Given the description of an element on the screen output the (x, y) to click on. 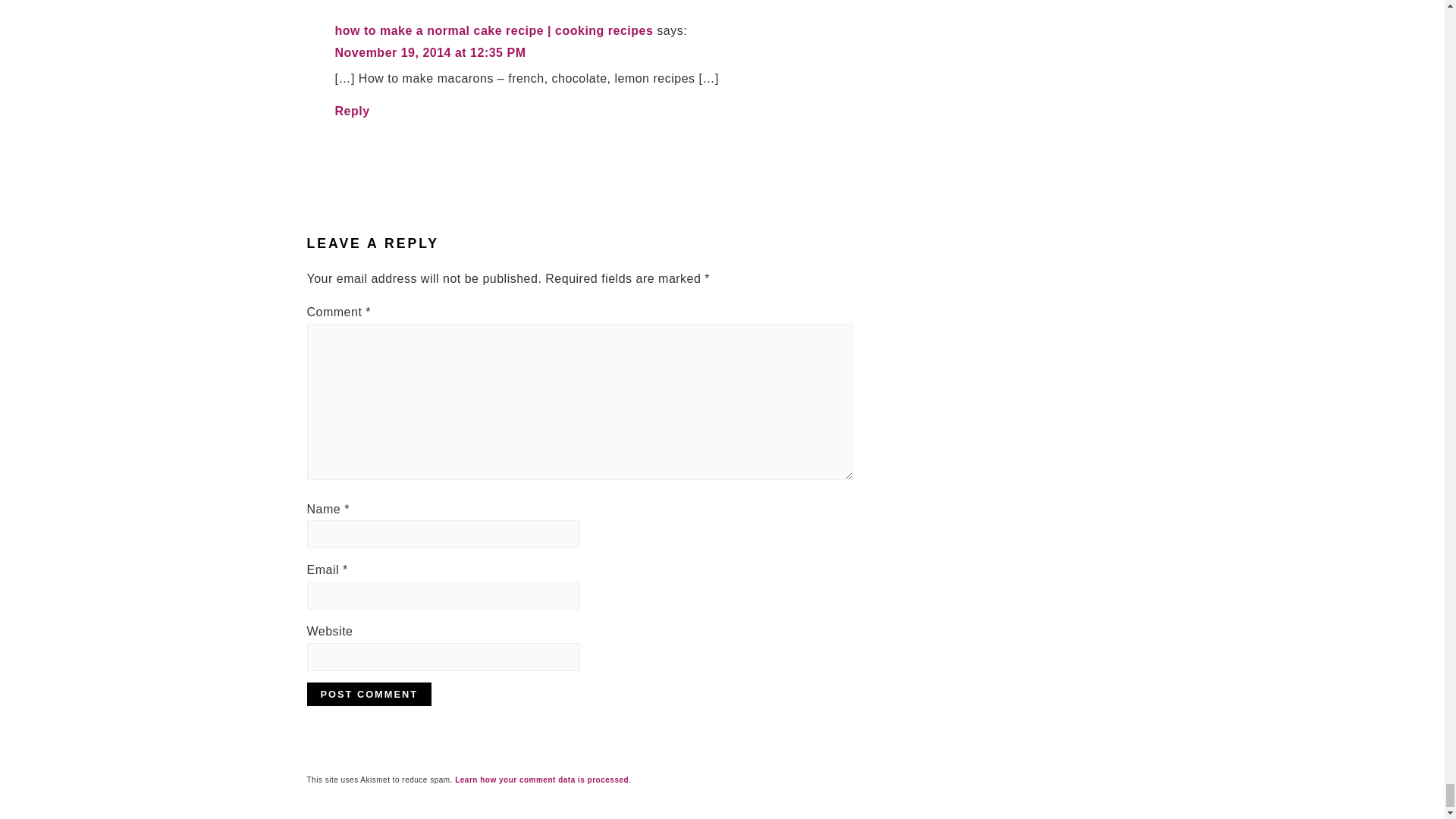
Post Comment (367, 693)
